Given the description of an element on the screen output the (x, y) to click on. 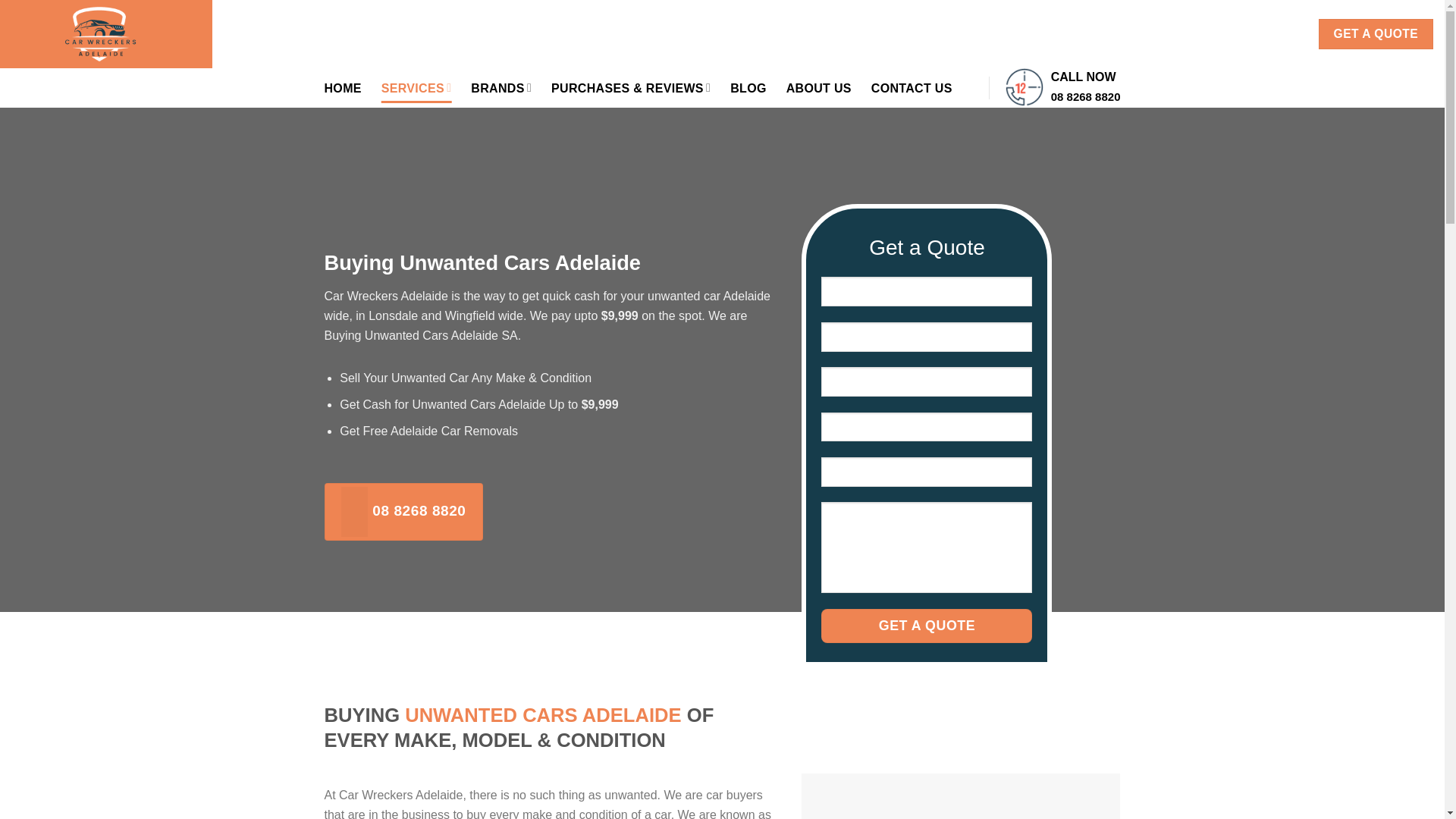
SERVICES (416, 87)
HOME (342, 88)
MON-SAT: 7AM TO 6PM (328, 32)
LOCATIONS (1139, 33)
Get a Quote (926, 625)
CONTACT US (1250, 33)
Car Wreckers Adelaide (106, 33)
GET A QUOTE (1375, 33)
